Given the description of an element on the screen output the (x, y) to click on. 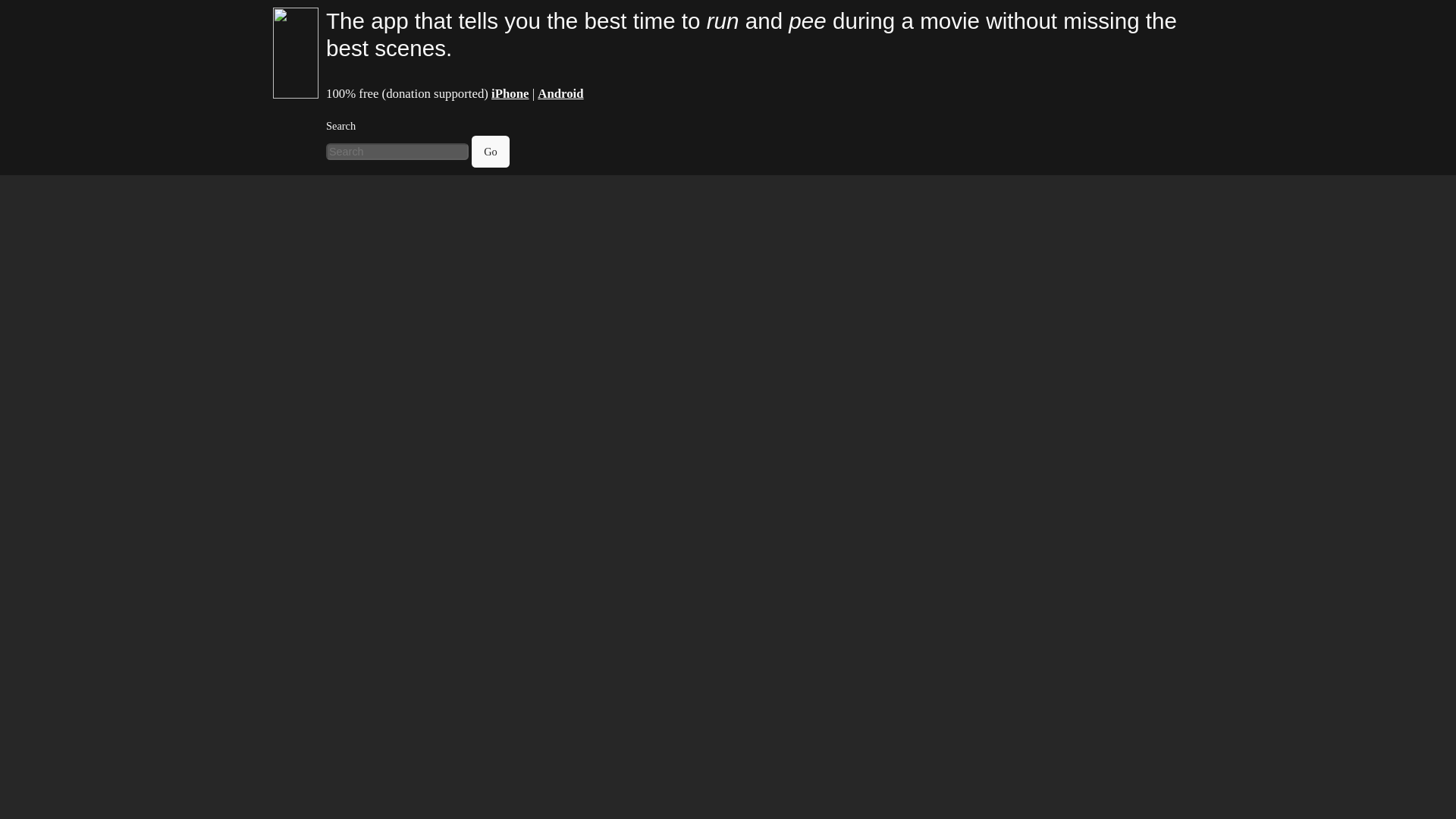
Go (490, 151)
iPhone (510, 93)
Android (560, 93)
